Given the description of an element on the screen output the (x, y) to click on. 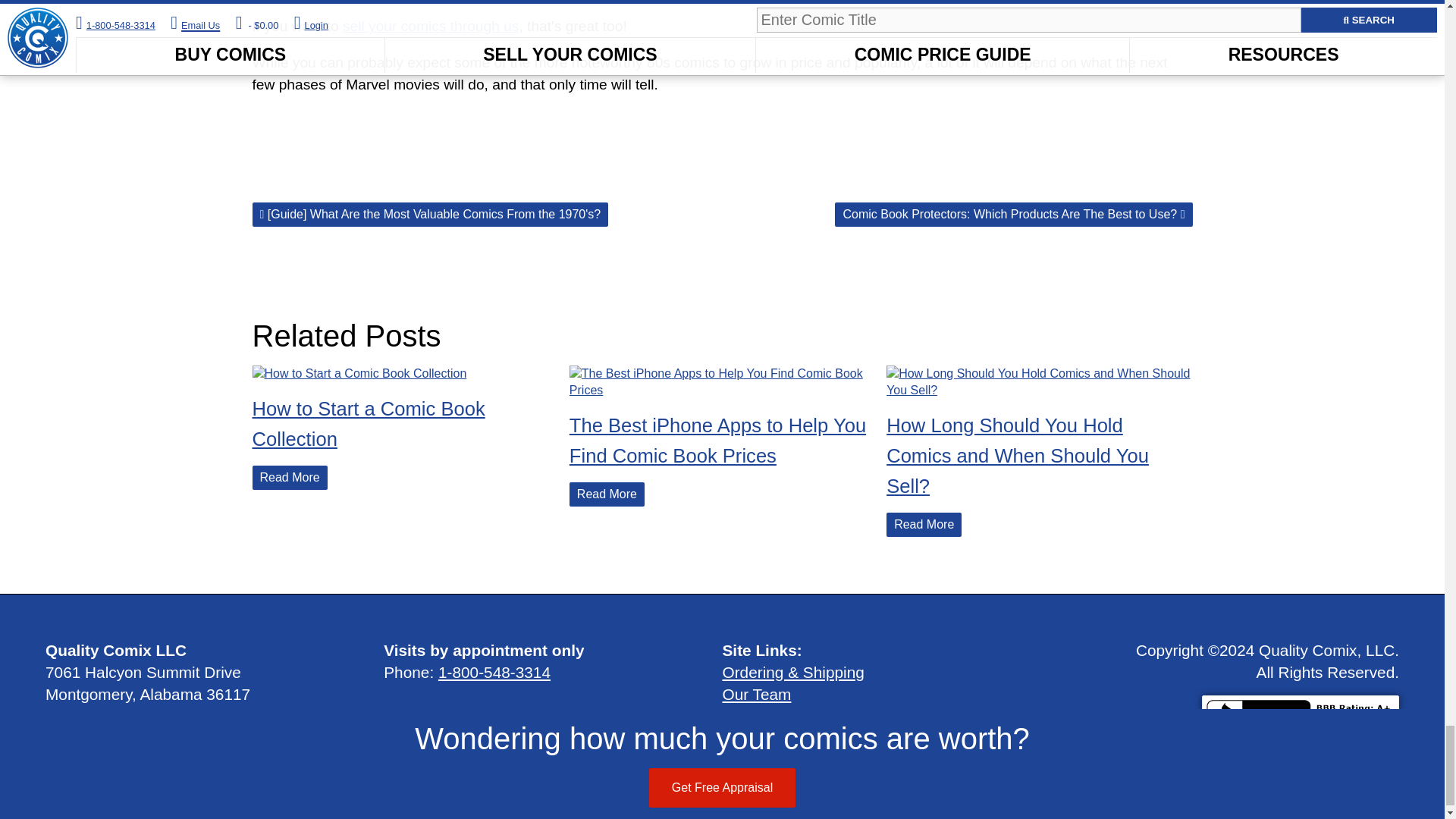
Quality Comix, LLC, Comic Book, Montgomery, AL (1301, 718)
